Given the description of an element on the screen output the (x, y) to click on. 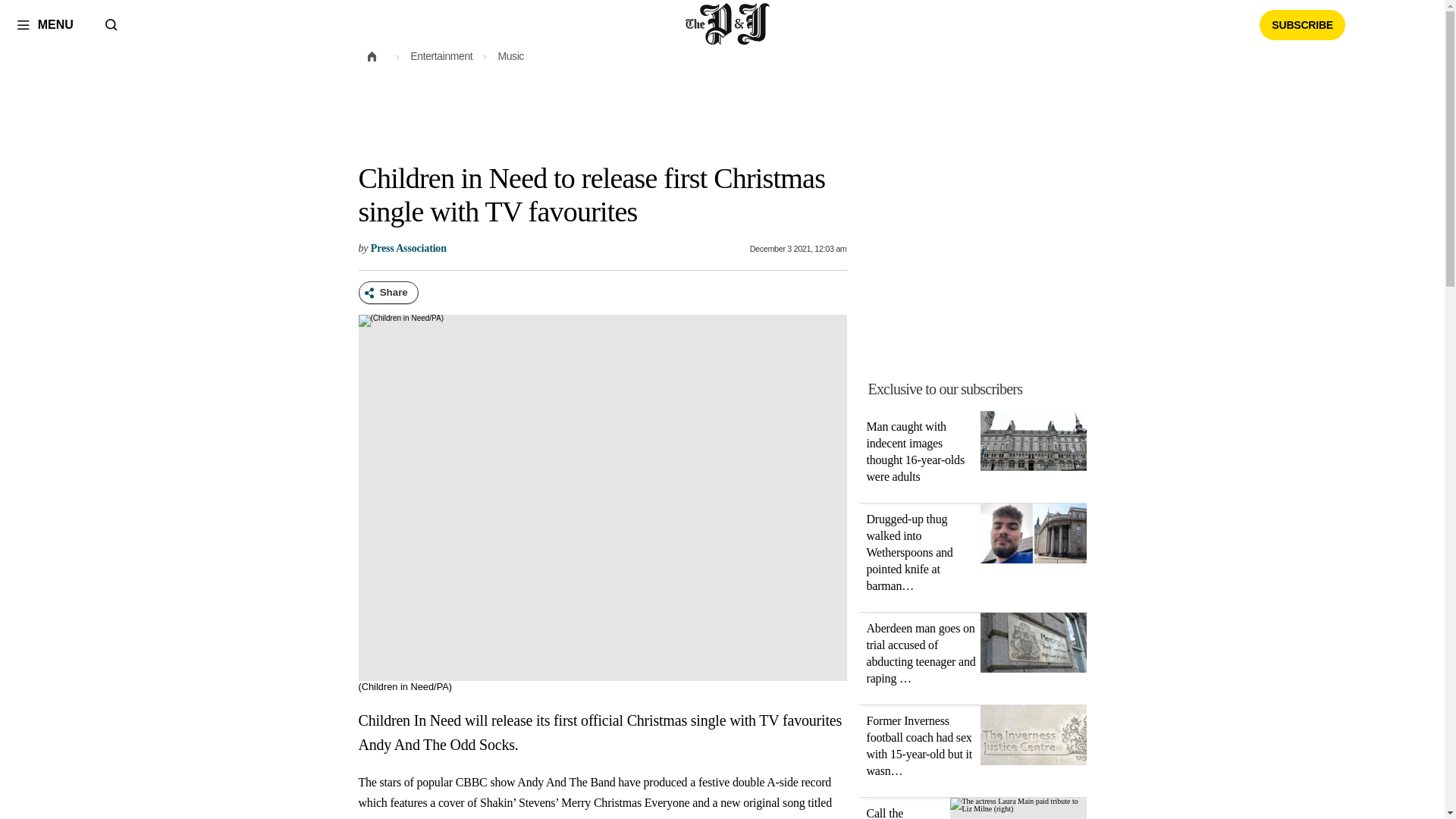
Exclusive to our subscribers (944, 389)
MENU (44, 24)
Exclusive to our subscribers (981, 388)
Press and Journal (727, 24)
